Given the description of an element on the screen output the (x, y) to click on. 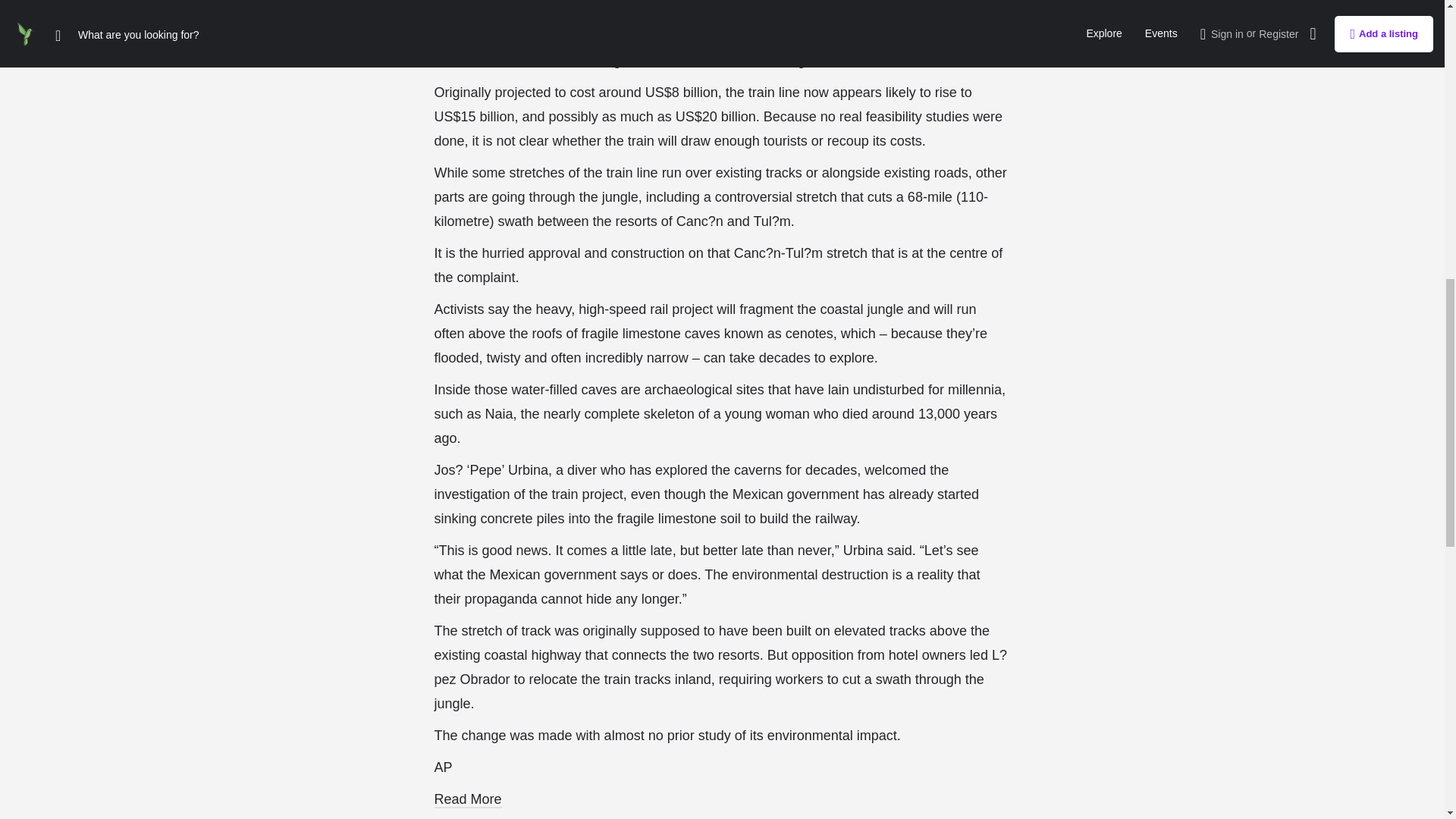
Read More (466, 799)
